Given the description of an element on the screen output the (x, y) to click on. 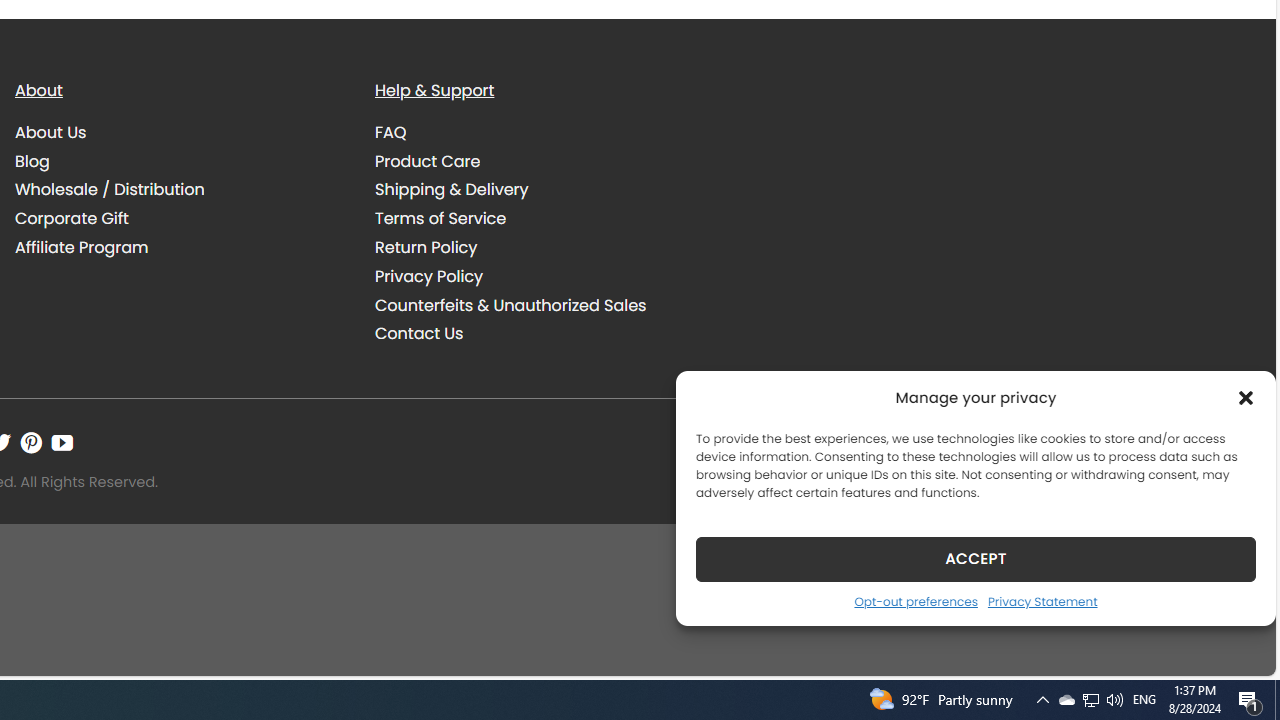
Privacy Policy (429, 276)
Contact Us (419, 333)
Return Policy (426, 247)
Follow on YouTube (61, 442)
Return Policy (540, 247)
ACCEPT (975, 558)
About Us (180, 132)
Wholesale / Distribution (180, 190)
Affiliate Program (180, 247)
Corporate Gift (180, 218)
Privacy Policy (540, 276)
Counterfeits & Unauthorized Sales (540, 305)
Product Care (540, 161)
Product Care (428, 160)
Follow on Pinterest (31, 442)
